Given the description of an element on the screen output the (x, y) to click on. 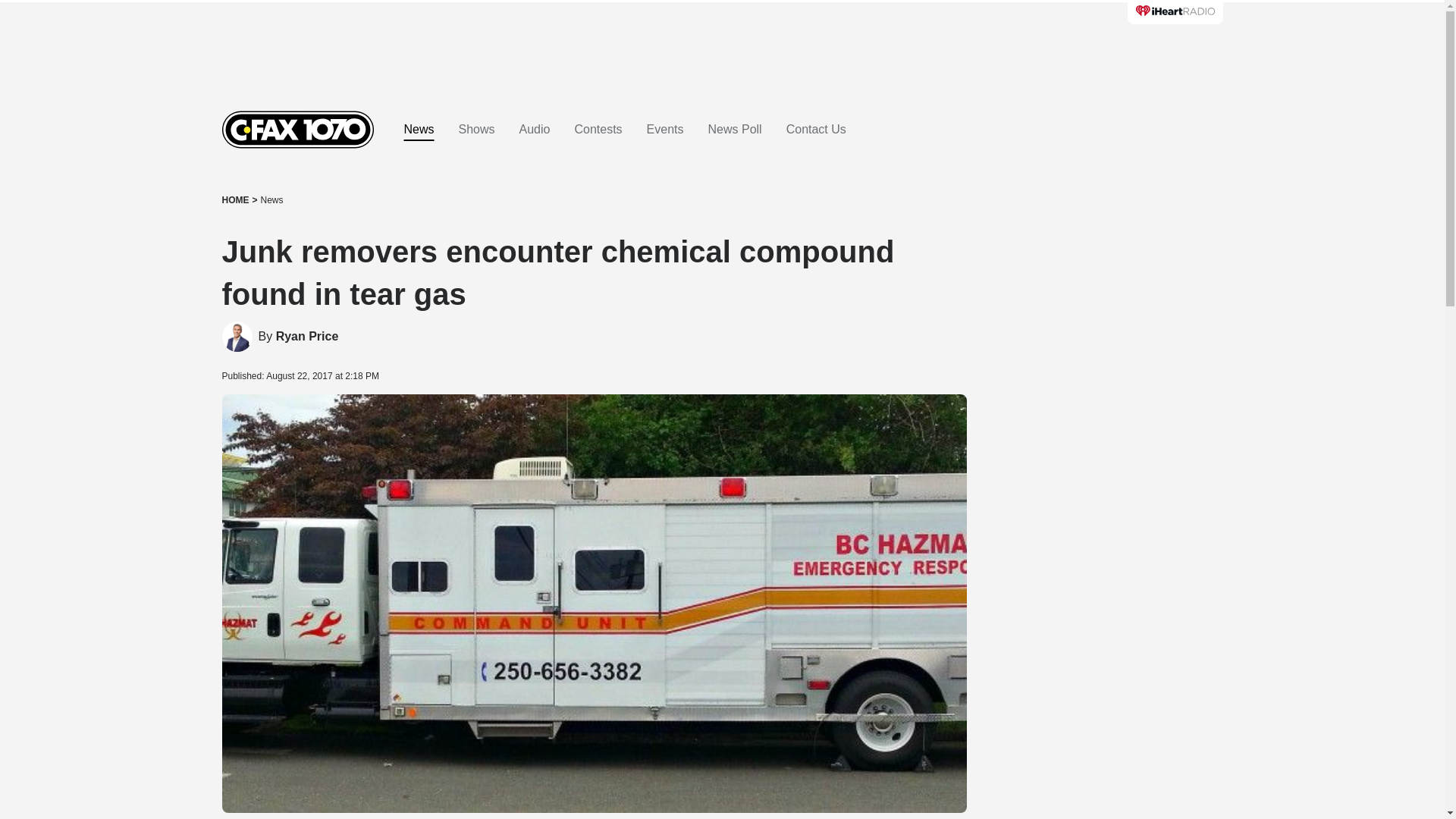
Contact Us (815, 129)
Ryan Price (307, 336)
Ryan  Price (236, 336)
3rd party ad content (1106, 349)
Ryan  Price (307, 336)
News (271, 199)
Contests (597, 129)
HOME (234, 199)
3rd party ad content (721, 46)
Shows (476, 129)
Audio (534, 129)
News Poll (734, 129)
News (418, 129)
Events (665, 129)
